Given the description of an element on the screen output the (x, y) to click on. 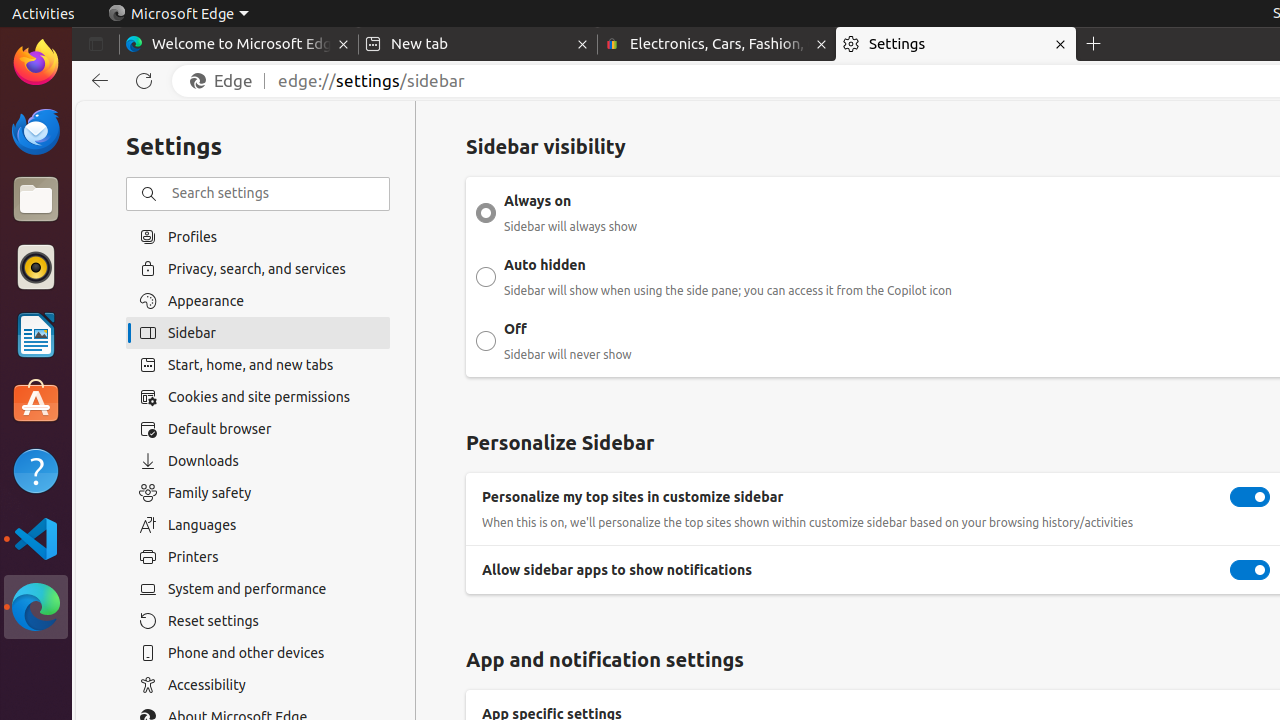
Rhythmbox Element type: push-button (36, 267)
Personalize my top sites in customize sidebar Element type: check-box (1250, 497)
Visual Studio Code Element type: push-button (36, 538)
Edge Element type: push-button (226, 81)
Default browser Element type: tree-item (258, 429)
